Given the description of an element on the screen output the (x, y) to click on. 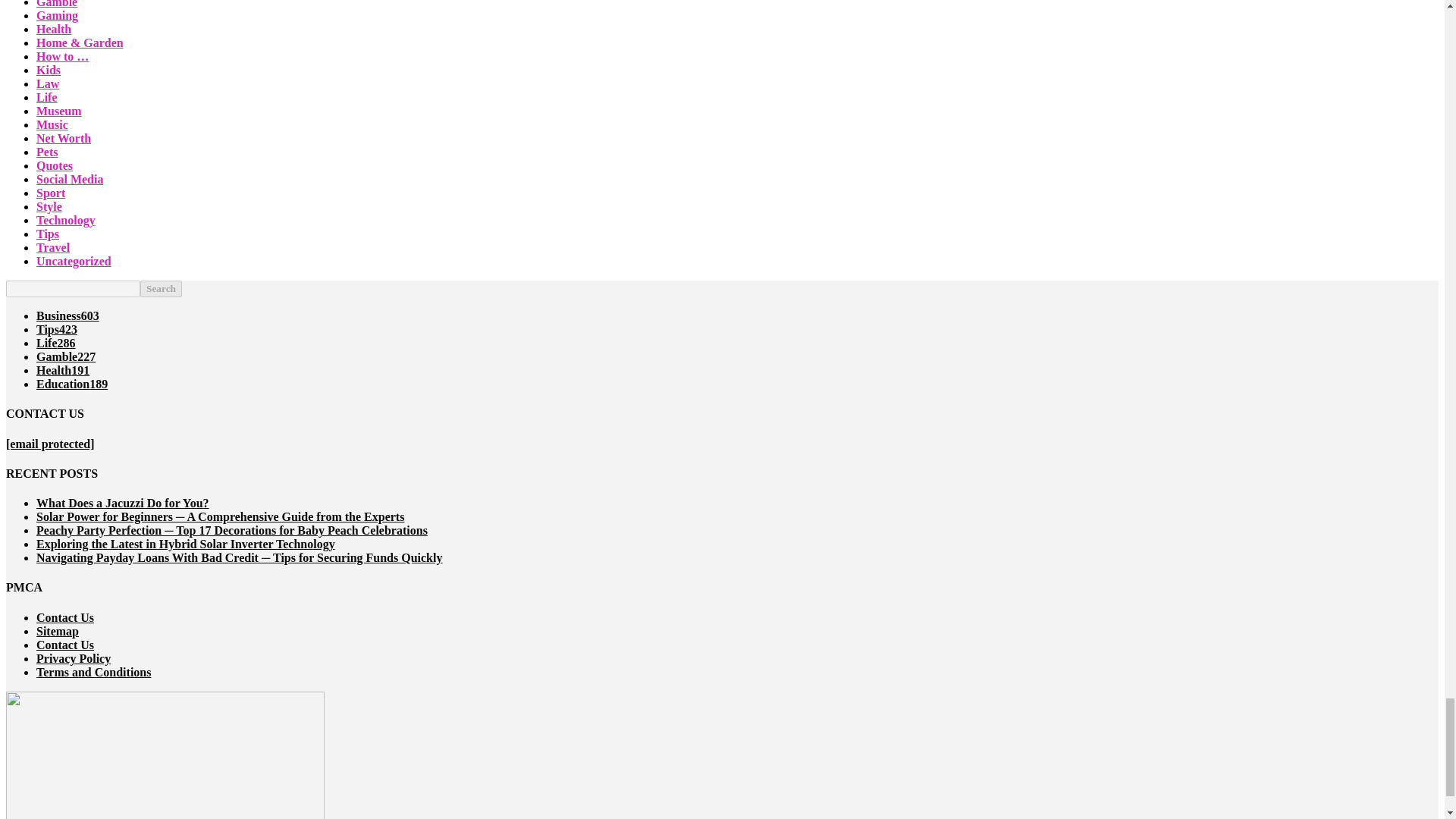
Search (160, 288)
